Given the description of an element on the screen output the (x, y) to click on. 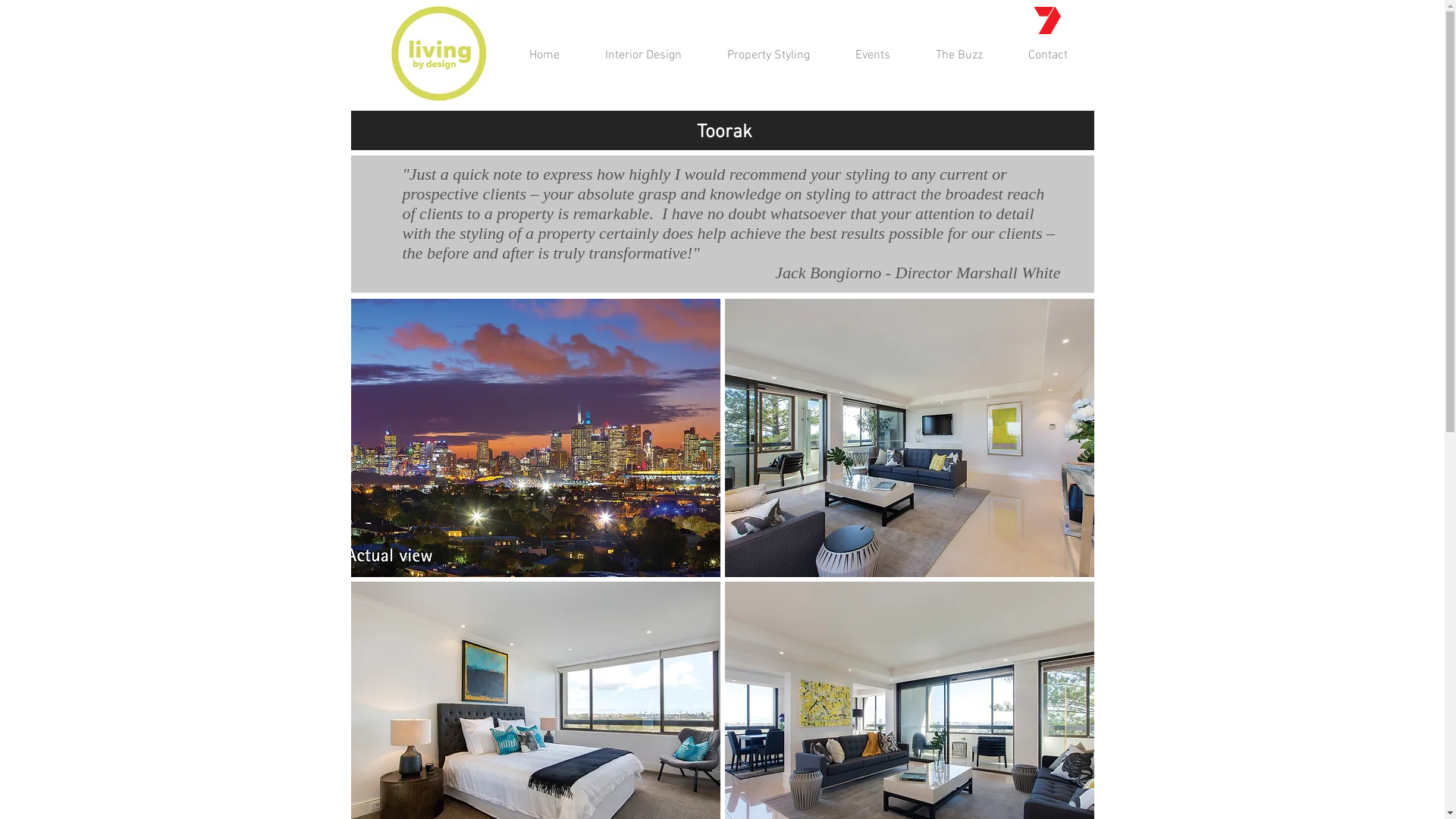
Contact Element type: text (1047, 55)
Home Element type: text (543, 55)
LBD_logo.jpg Element type: hover (437, 54)
The Buzz Element type: text (958, 55)
